Given the description of an element on the screen output the (x, y) to click on. 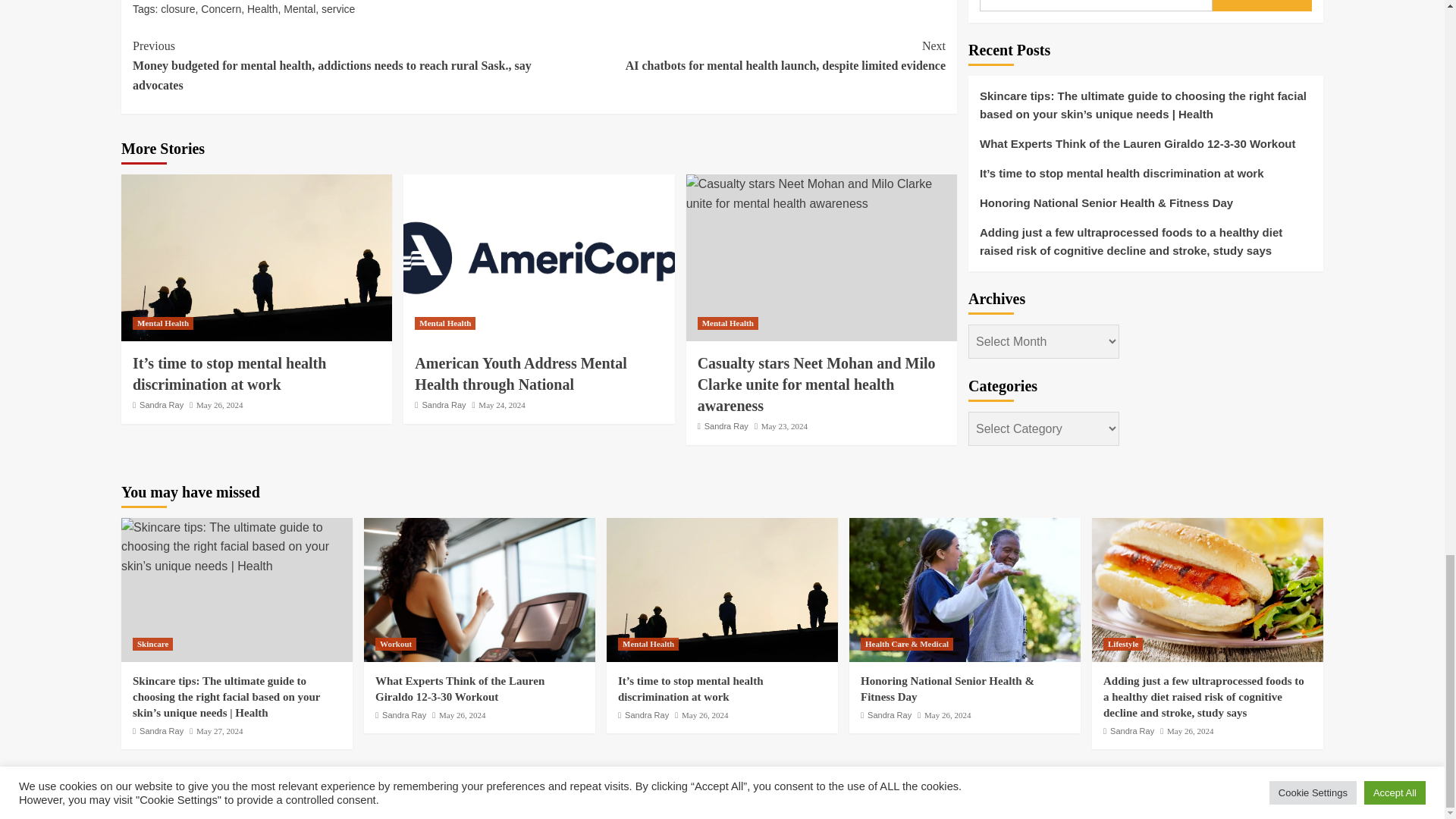
service (338, 9)
closure (177, 9)
Health (262, 9)
American Youth Address Mental Health through National (538, 257)
Mental (299, 9)
Concern (220, 9)
